Given the description of an element on the screen output the (x, y) to click on. 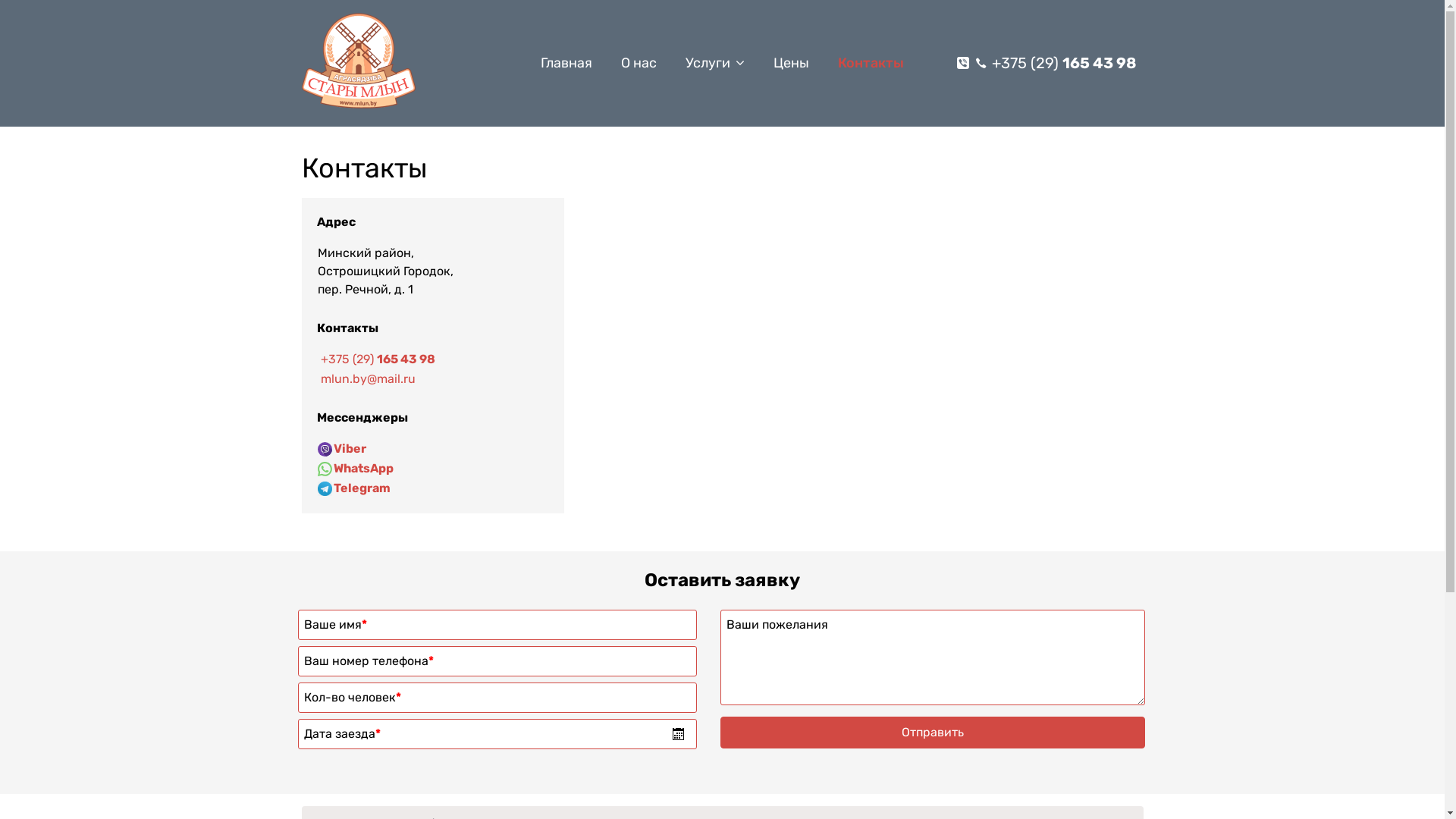
+375 (29) 165 43 98 Element type: text (1063, 62)
mlun.by@mail.ru Element type: text (367, 378)
WhatsApp Element type: text (363, 468)
+375 (29) 165 43 98 Element type: text (377, 358)
Telegram Element type: text (361, 487)
Viber Element type: text (349, 448)
